Given the description of an element on the screen output the (x, y) to click on. 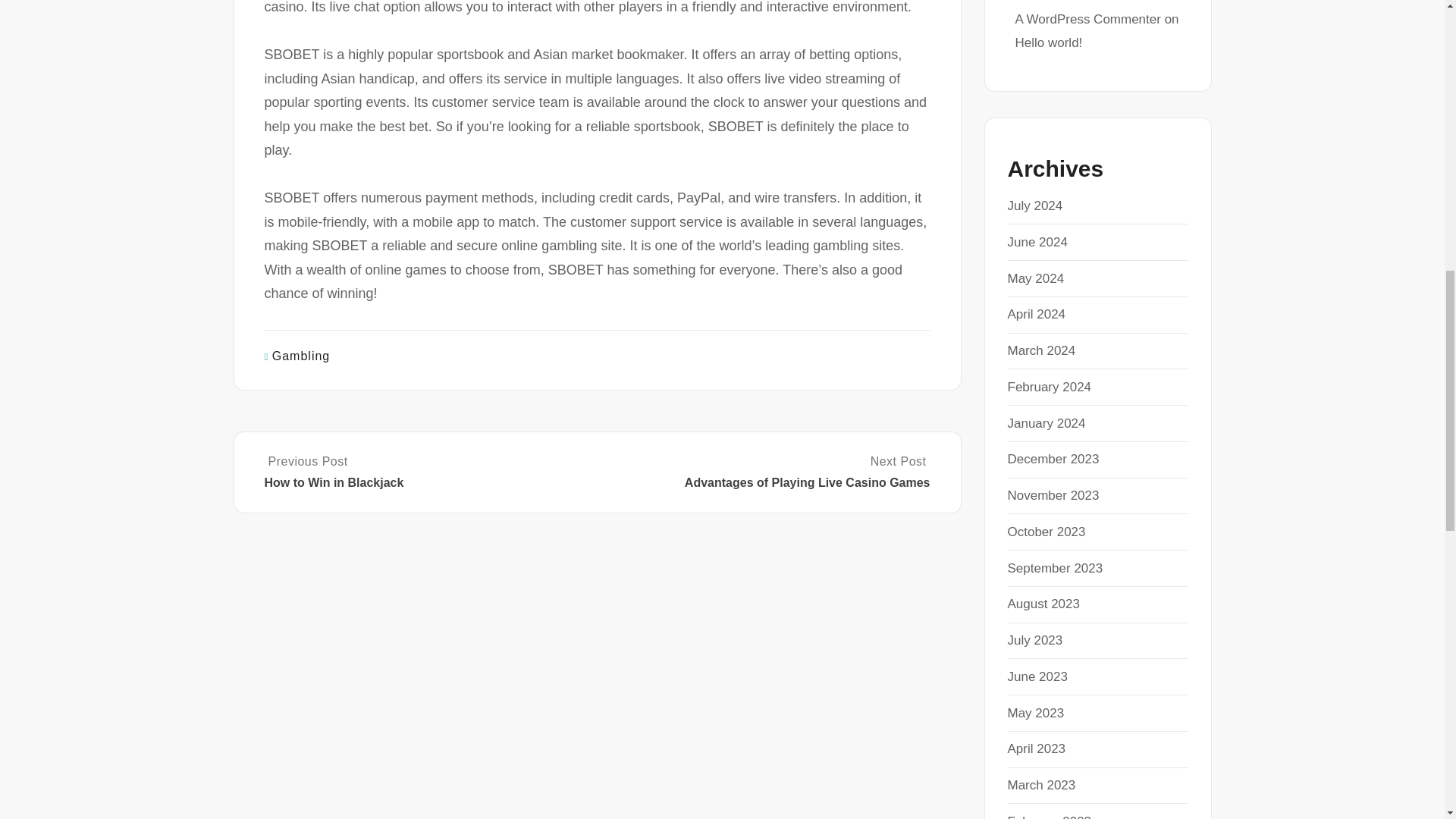
July 2024 (1034, 205)
June 2023 (1037, 676)
September 2023 (1054, 568)
January 2024 (1045, 423)
July 2023 (1034, 640)
May 2024 (1035, 278)
March 2024 (1041, 350)
April 2024 (1036, 314)
October 2023 (1045, 531)
November 2023 (1053, 495)
Hello world! (1047, 42)
February 2024 (1048, 386)
May 2023 (1035, 712)
A WordPress Commenter (1087, 19)
